Given the description of an element on the screen output the (x, y) to click on. 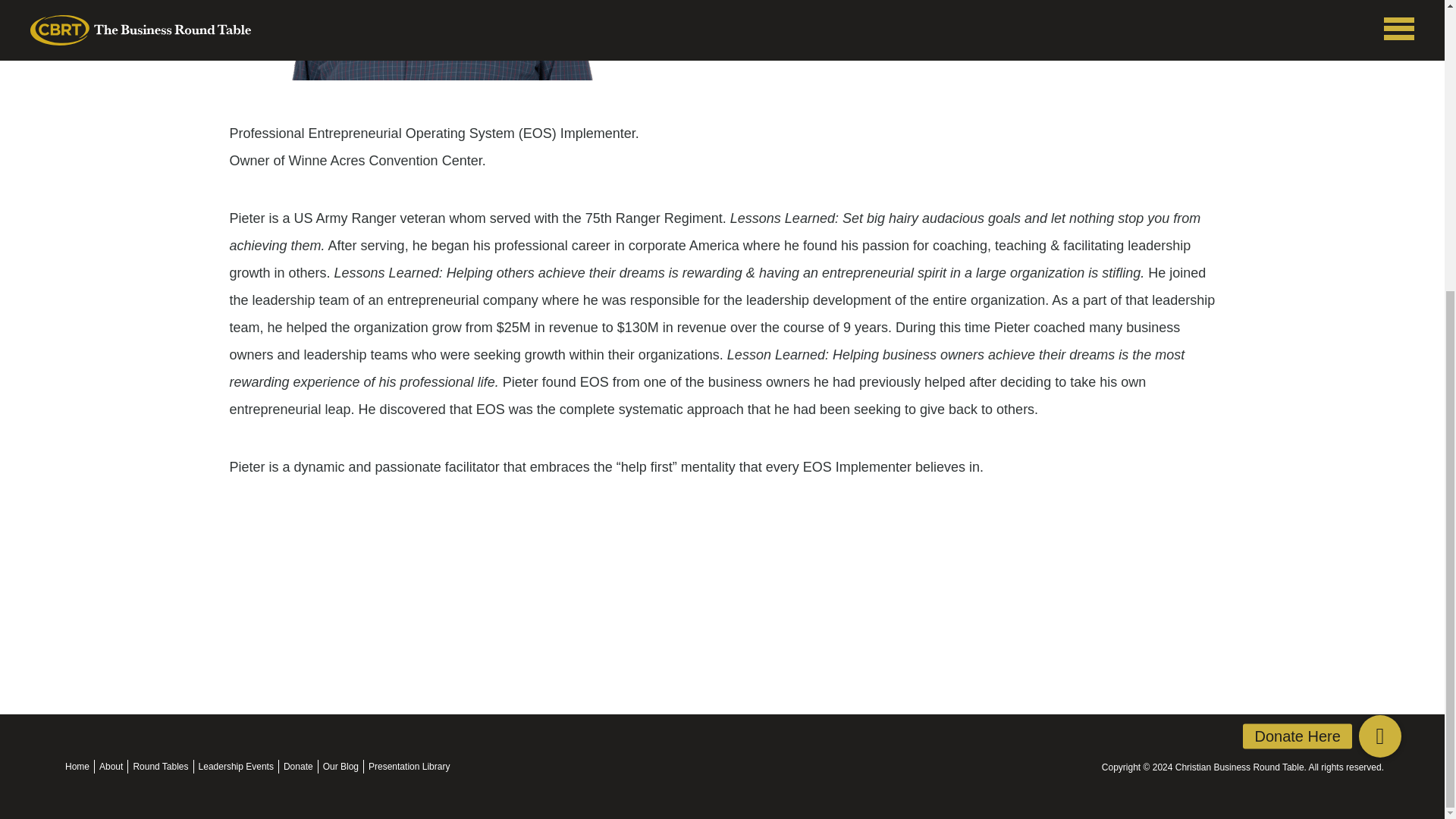
Donate (298, 766)
Leadership Events (235, 766)
Donate Here (1379, 292)
Presentation Library (408, 766)
About (110, 766)
Home (76, 766)
Our Blog (340, 766)
Round Tables (159, 766)
